Given the description of an element on the screen output the (x, y) to click on. 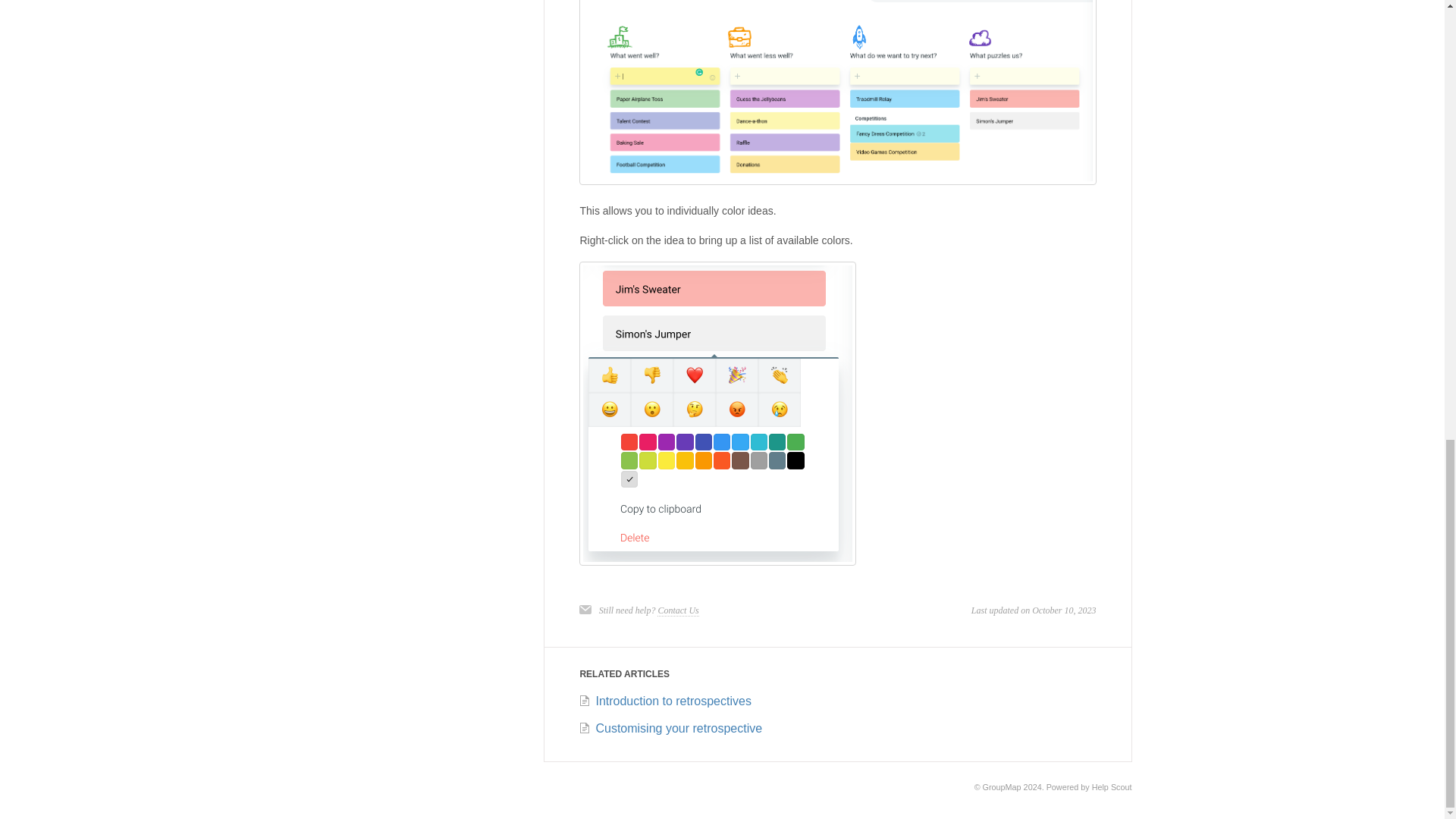
GroupMap (1002, 786)
Help Scout (1112, 786)
Contact Us (678, 610)
Introduction to retrospectives (664, 700)
Customising your retrospective (669, 727)
